Given the description of an element on the screen output the (x, y) to click on. 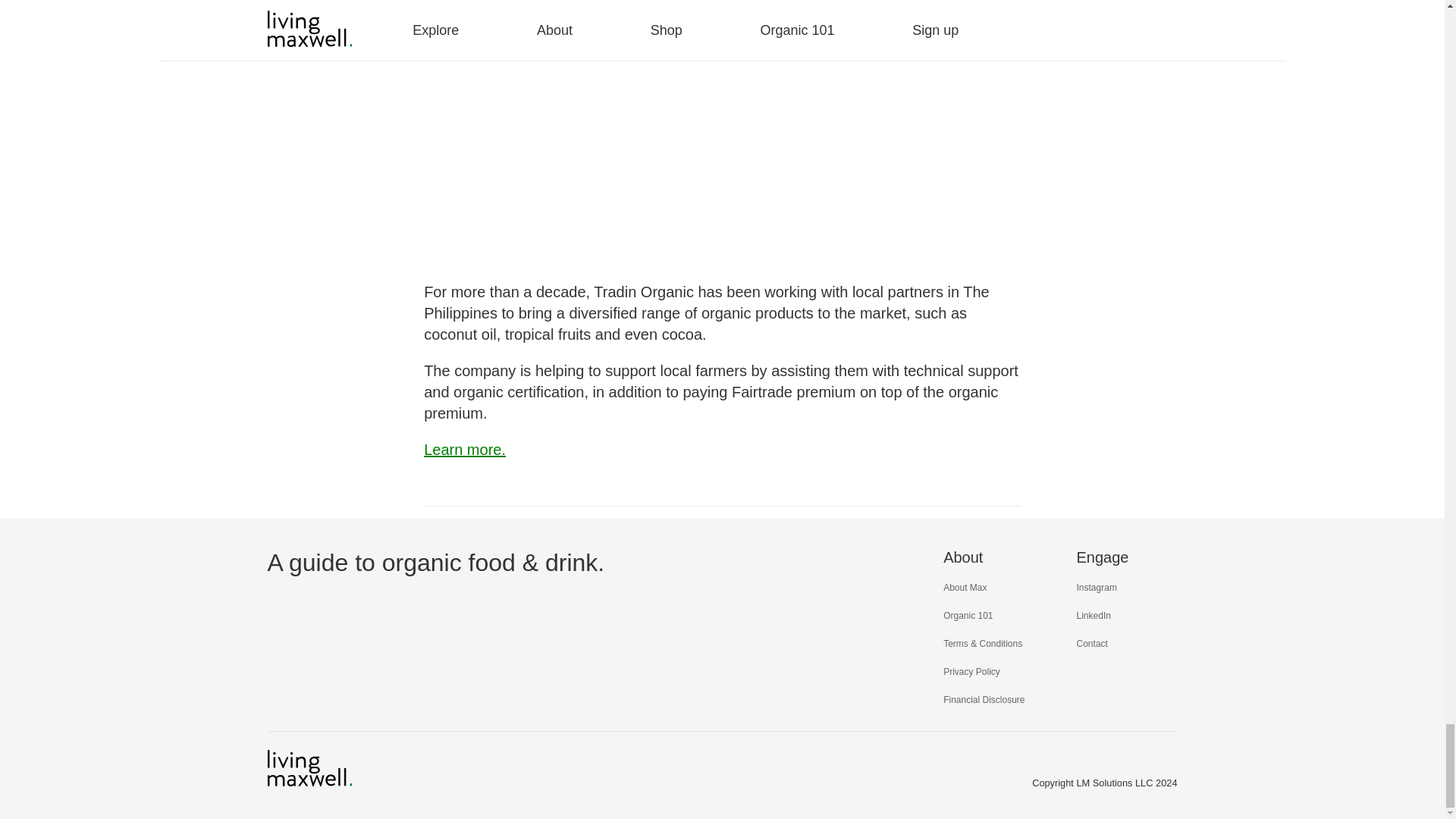
Privacy Policy (971, 671)
Organic 101 (967, 615)
Instagram (1096, 587)
About Max (965, 587)
Learn more. (464, 449)
Financial Disclosure (984, 699)
LinkedIn (1093, 615)
